Given the description of an element on the screen output the (x, y) to click on. 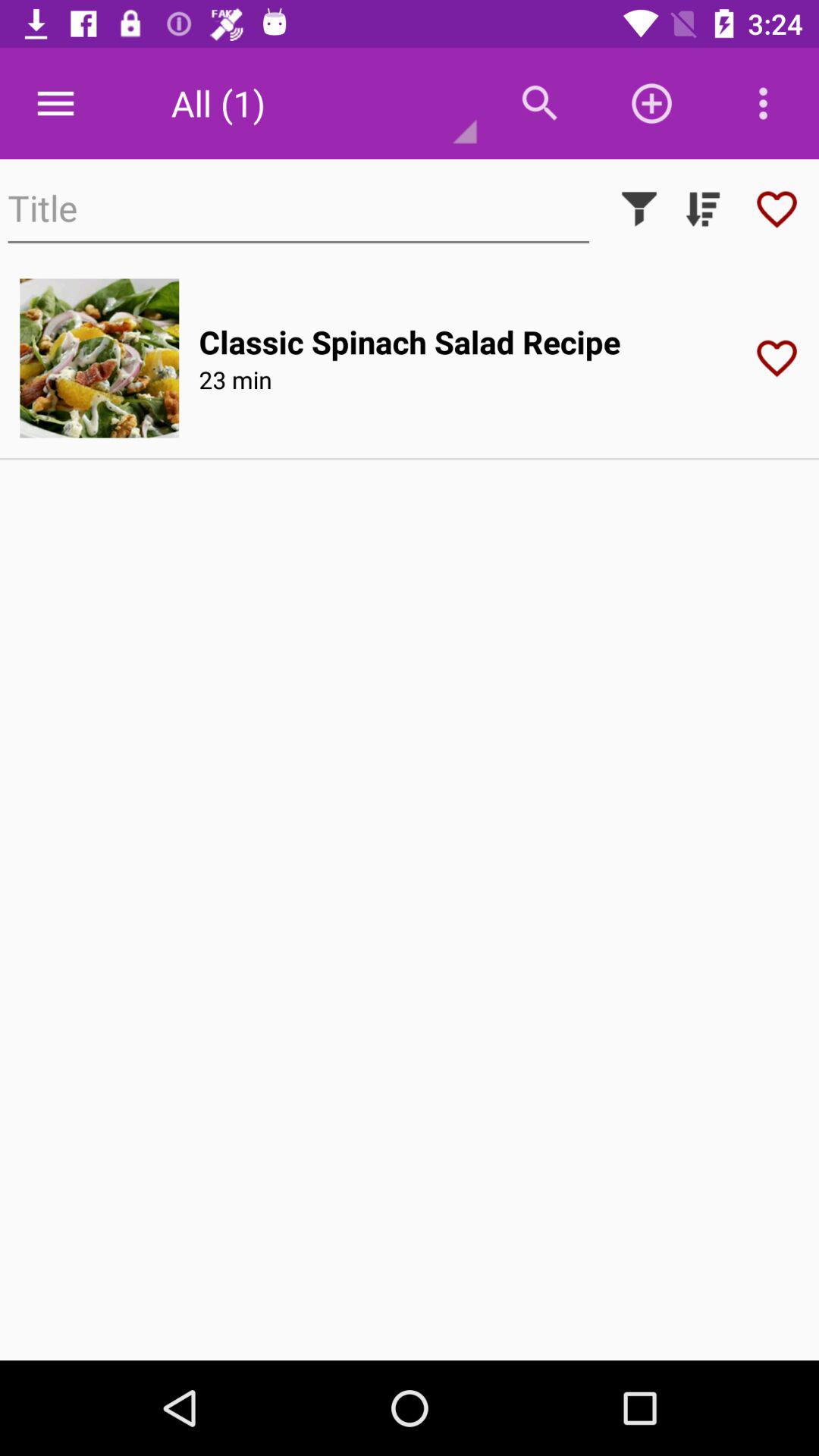
enter title (298, 208)
